Given the description of an element on the screen output the (x, y) to click on. 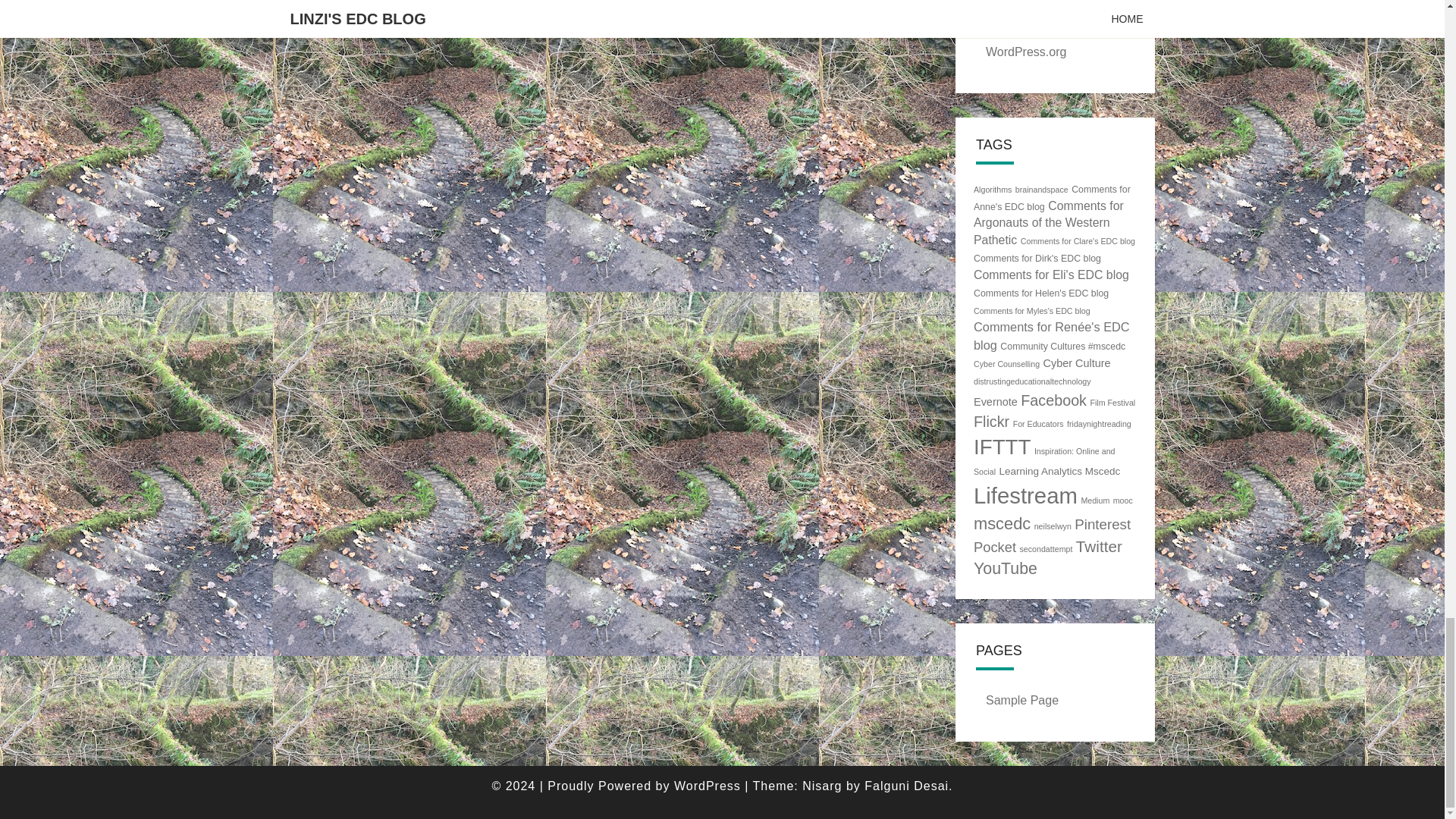
Really Simple Syndication (1060, 21)
